Given the description of an element on the screen output the (x, y) to click on. 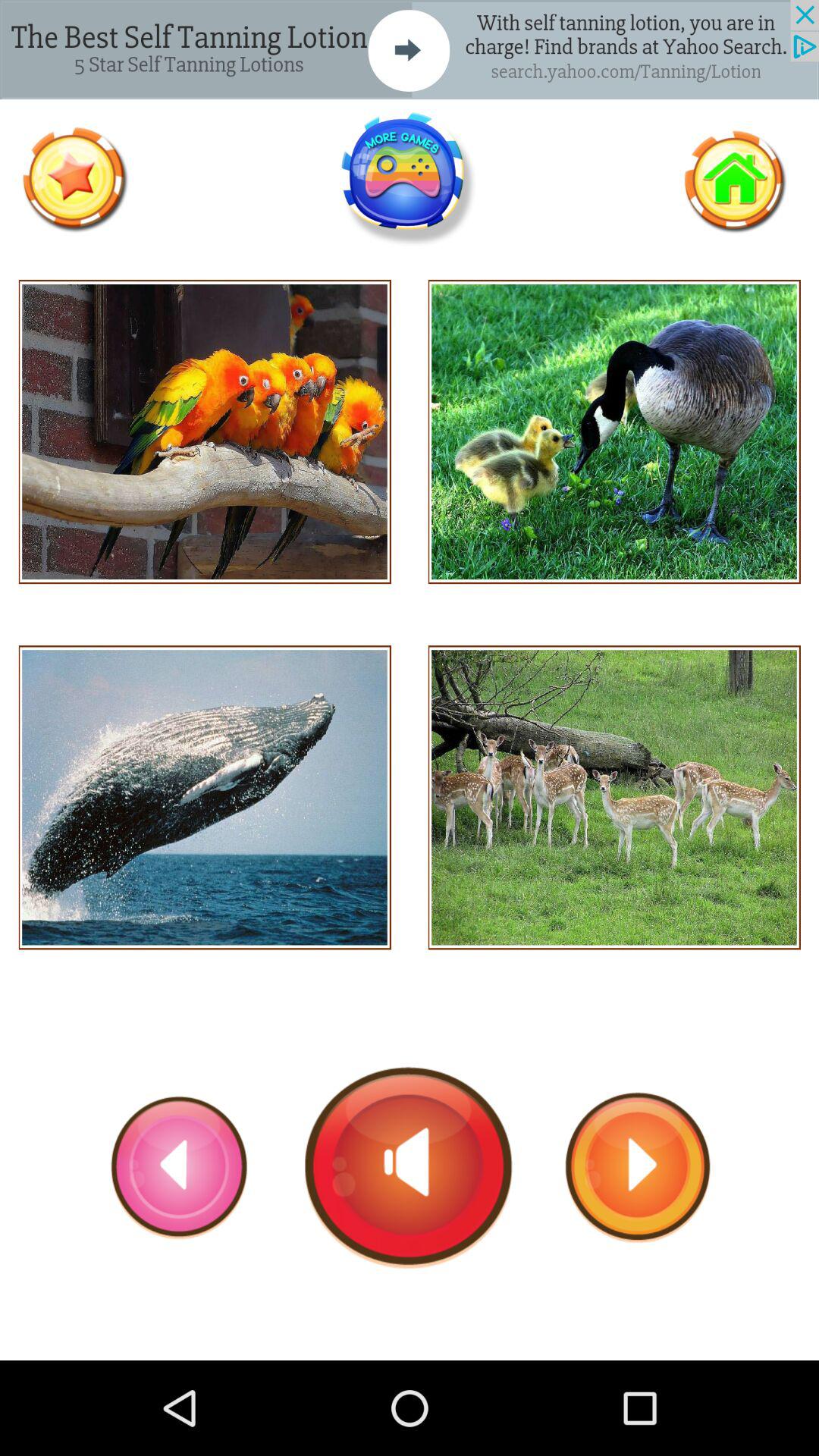
hear sound of that animal (204, 431)
